Given the description of an element on the screen output the (x, y) to click on. 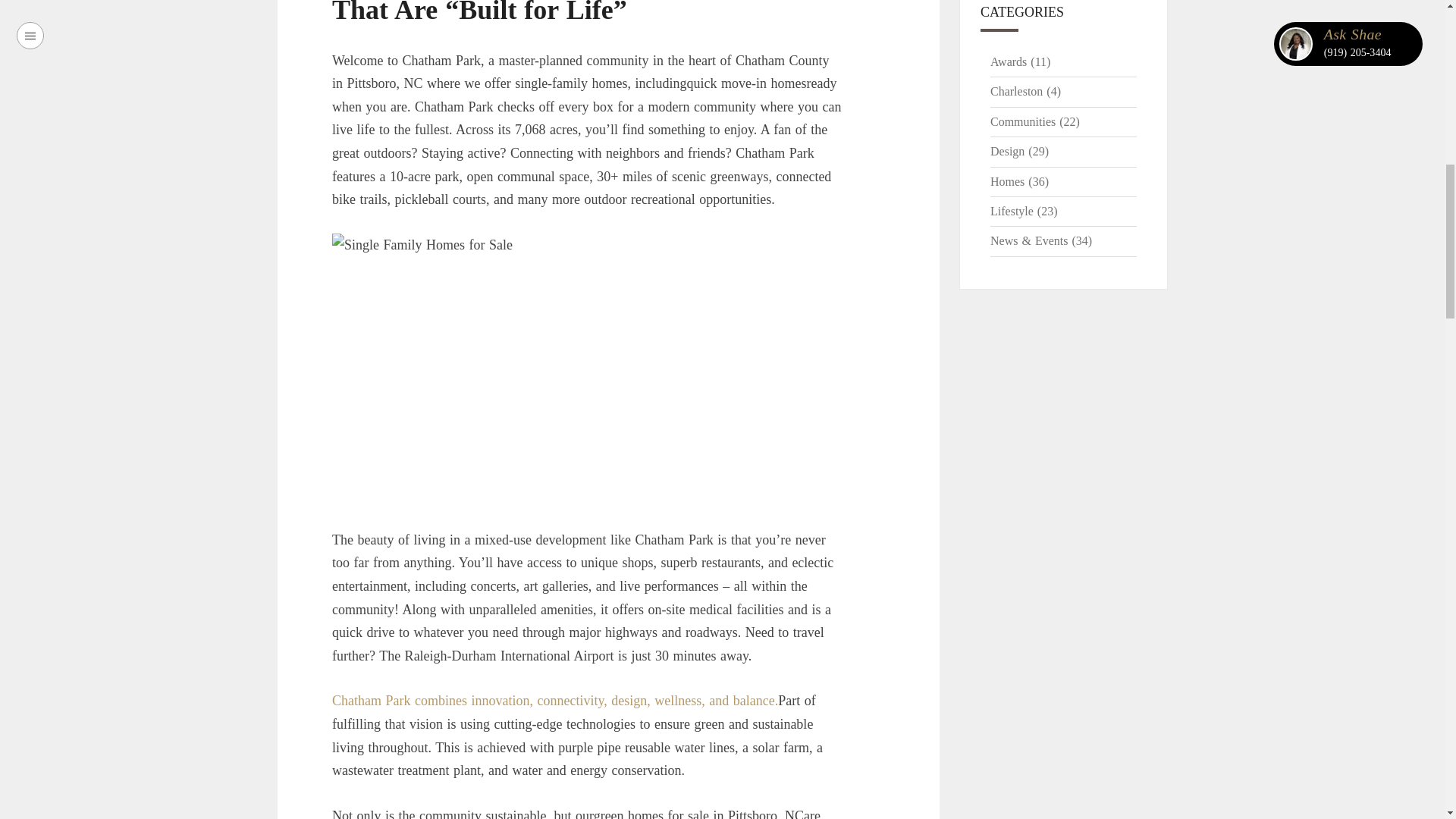
Lifestyle (1024, 210)
Design (1019, 151)
Awards (1019, 61)
Communities (1035, 121)
Homes (1019, 181)
Charleston (1025, 91)
